Given the description of an element on the screen output the (x, y) to click on. 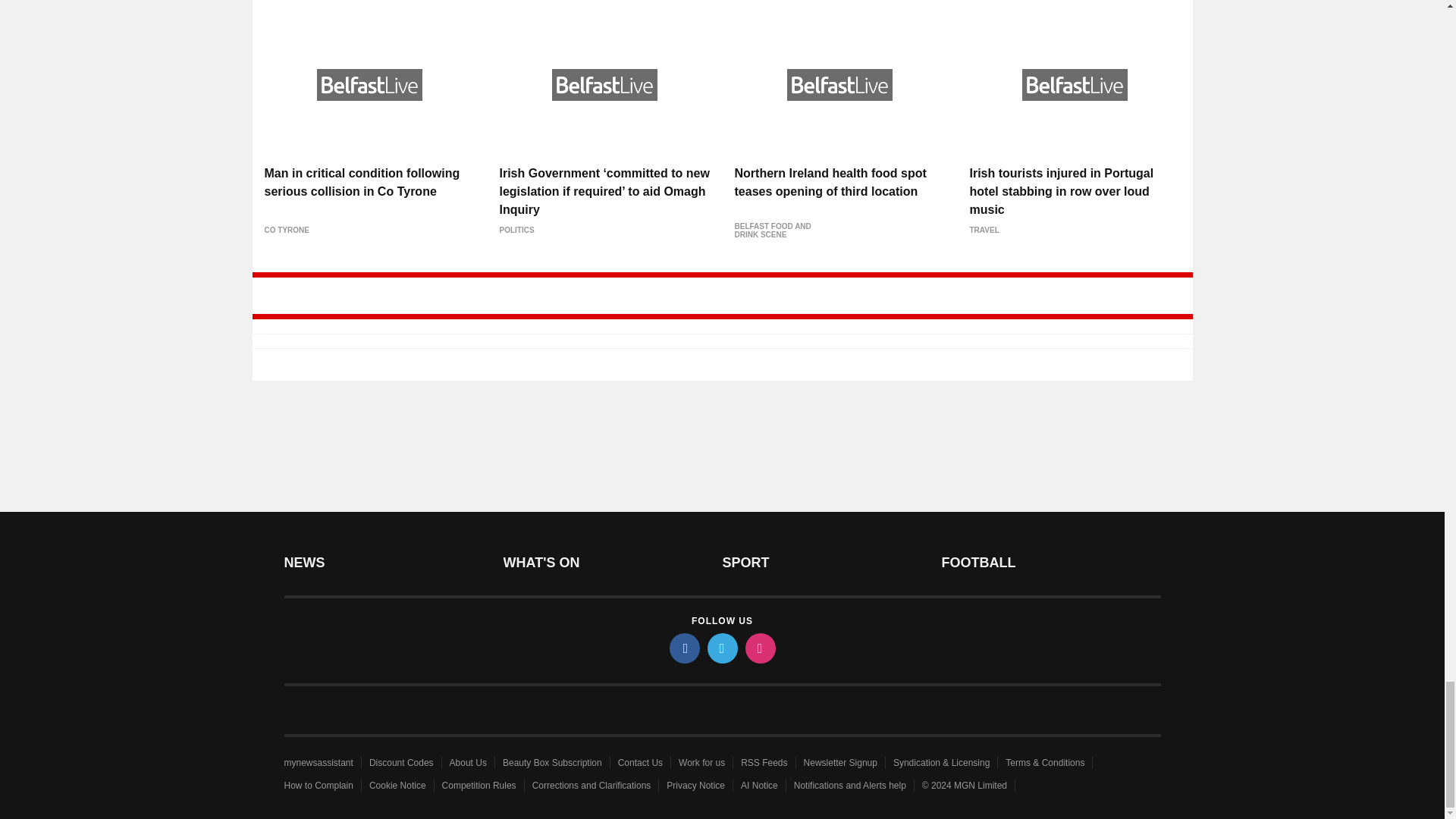
instagram (759, 648)
twitter (721, 648)
facebook (683, 648)
